Given the description of an element on the screen output the (x, y) to click on. 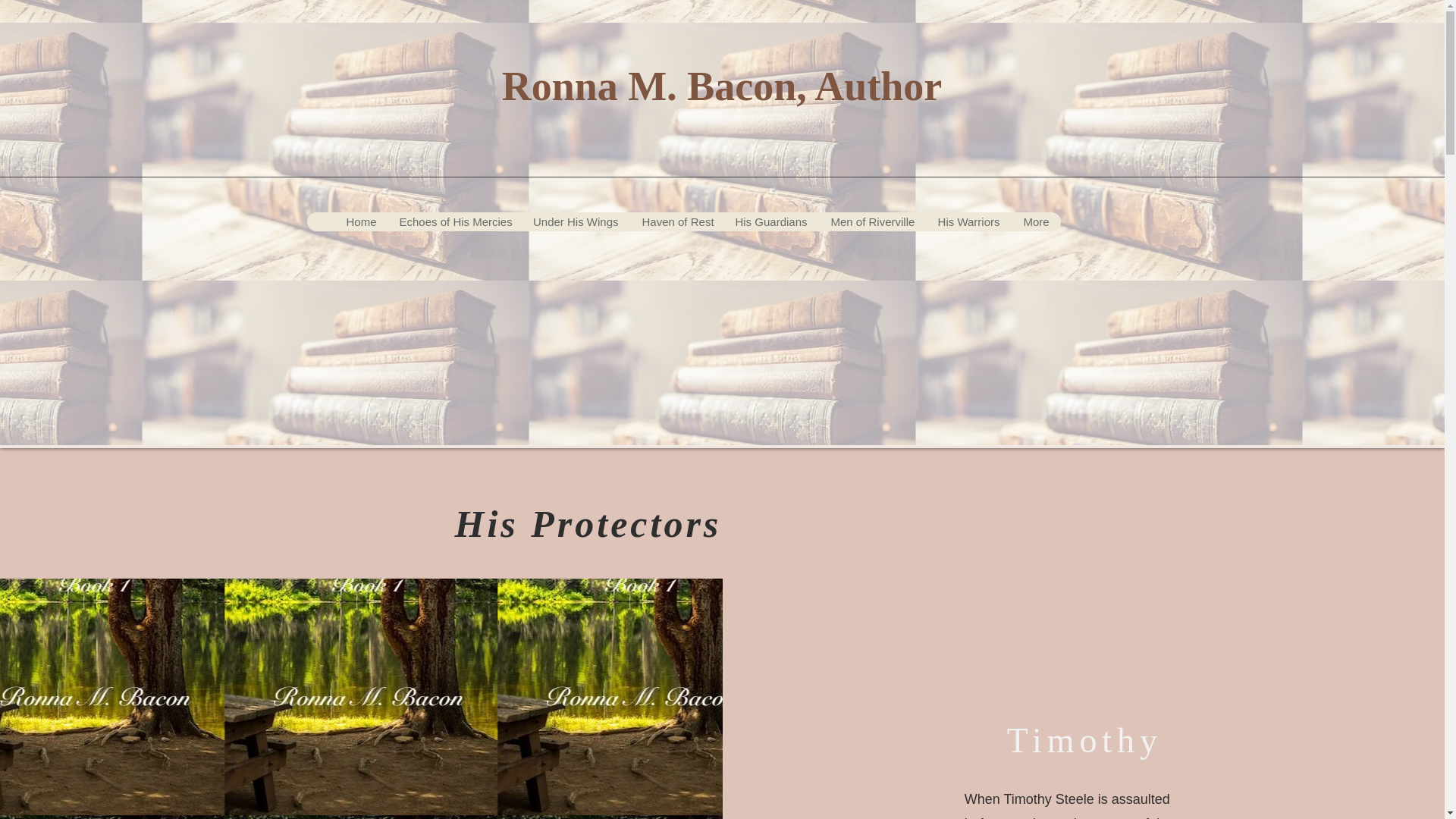
His Guardians (770, 221)
Haven of Rest (675, 221)
His Warriors (967, 221)
Under His Wings (574, 221)
Echoes of His Mercies (453, 221)
Men of Riverville (871, 221)
Home (360, 221)
